Given the description of an element on the screen output the (x, y) to click on. 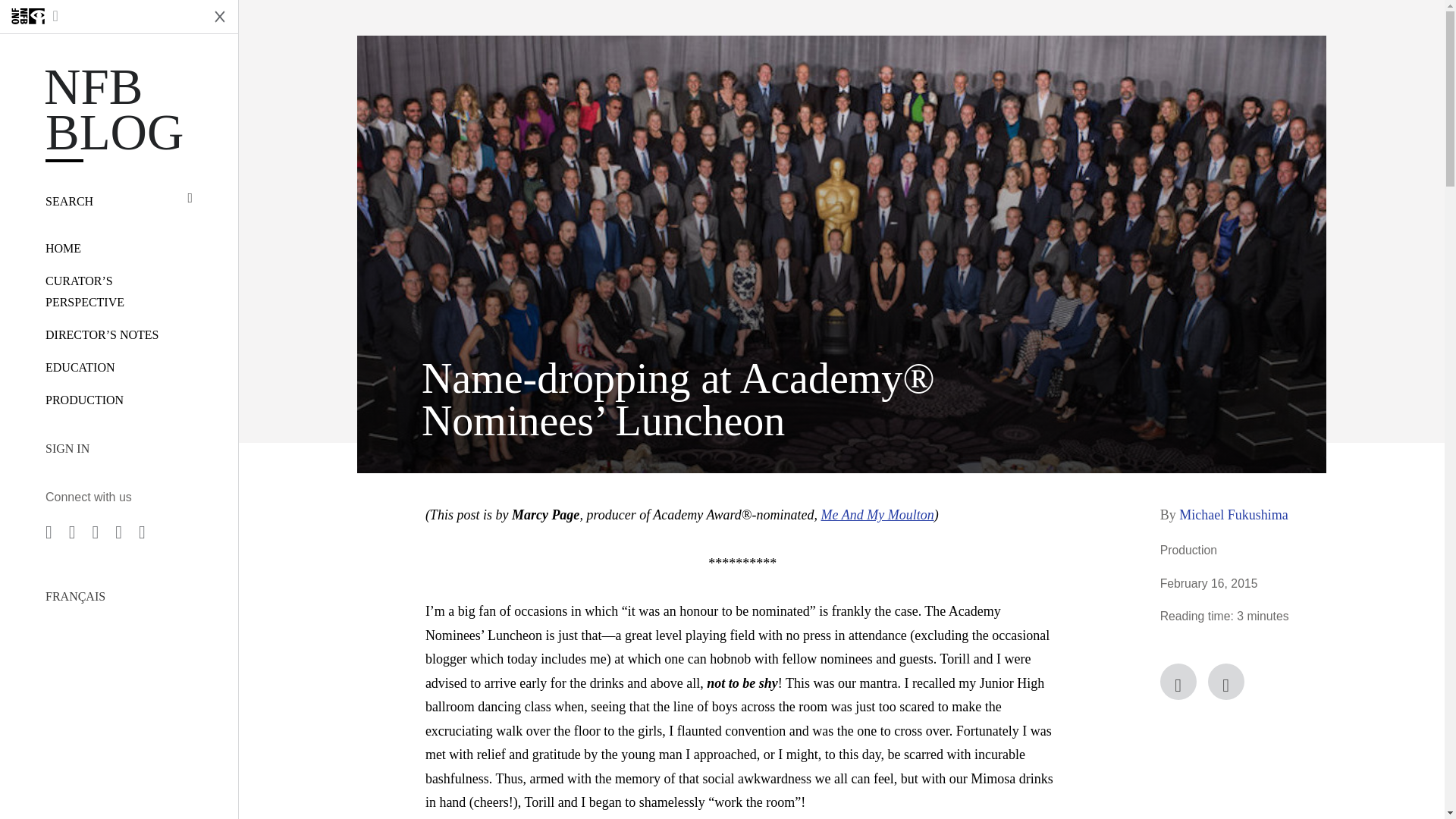
Michael Fukushima (1233, 514)
Facebook (1178, 681)
PRODUCTION (84, 399)
Visit NFB.ca (100, 16)
Me And My Moulton site (877, 514)
Production (1188, 549)
SIGN IN (118, 448)
Posts by Michael Fukushima (1233, 514)
Twitter (1226, 681)
Visit NFB.ca (100, 16)
